Given the description of an element on the screen output the (x, y) to click on. 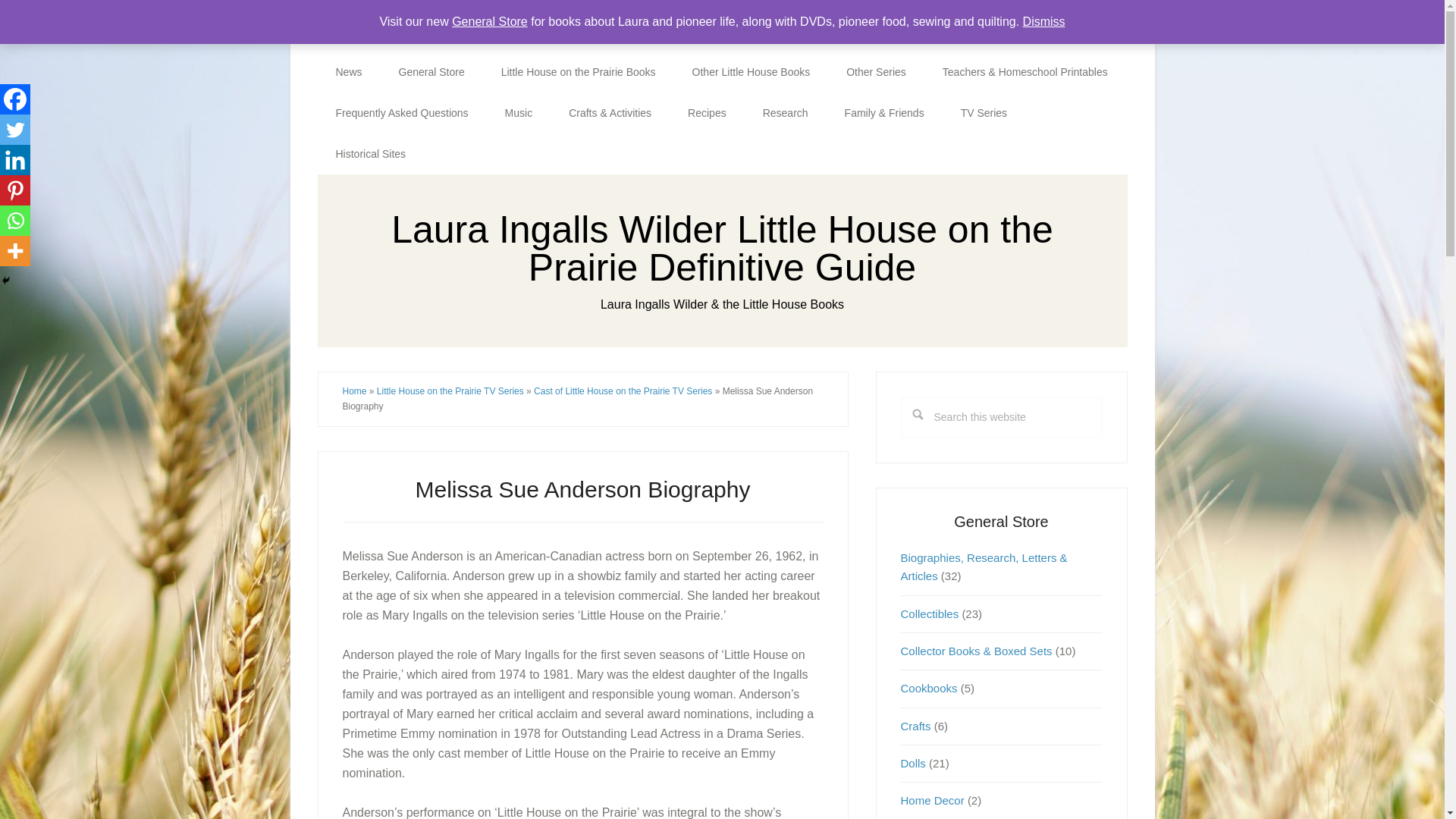
Twitter (15, 129)
Little House on the Prairie Books (578, 71)
Linkedin (15, 159)
Other Series (876, 71)
Facebook (15, 99)
Whatsapp (15, 220)
News (348, 71)
More (15, 250)
Hide (5, 280)
Pinterest (15, 190)
Other Little House Books (751, 71)
General Store (431, 71)
